Given the description of an element on the screen output the (x, y) to click on. 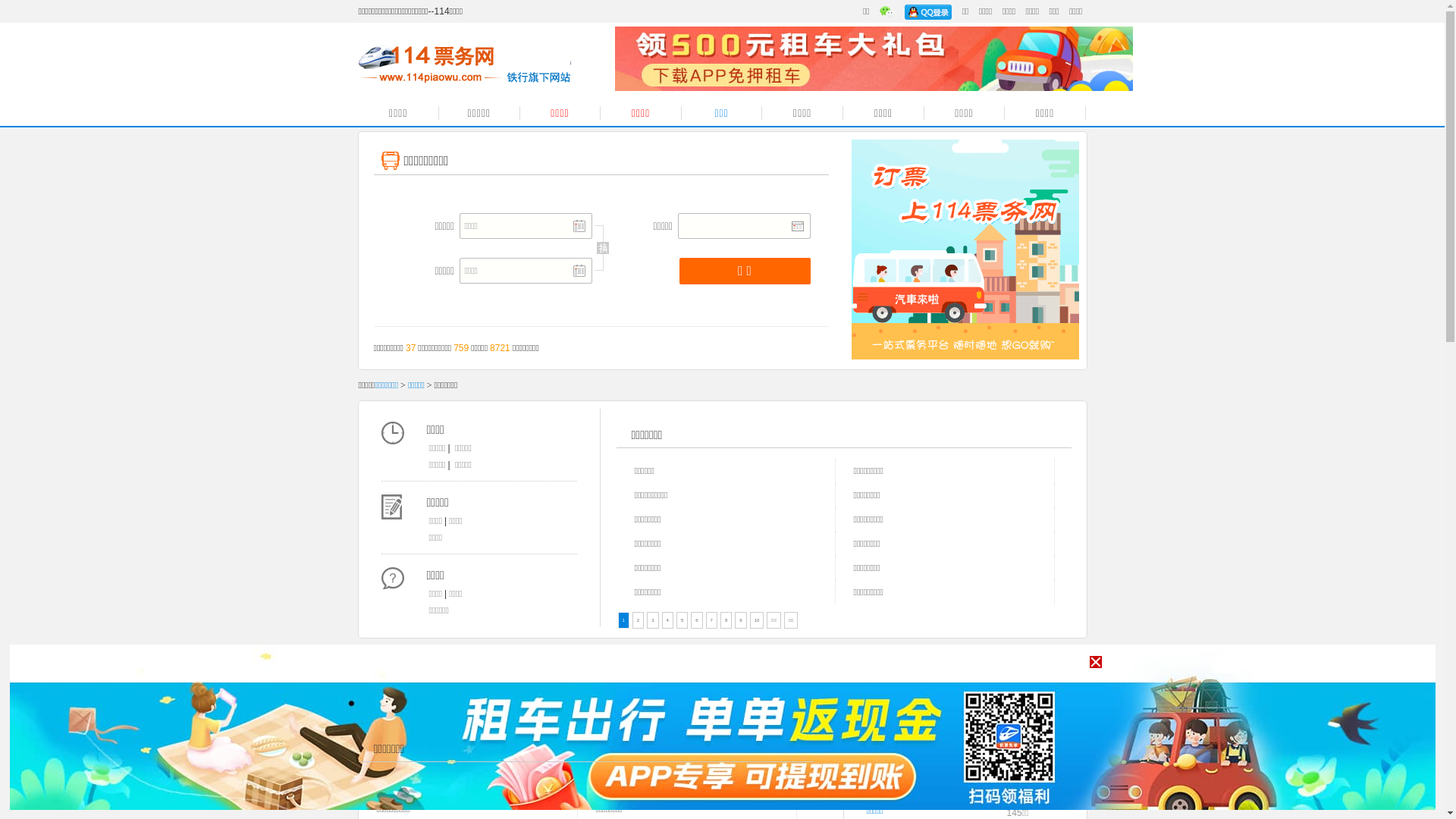
6 Element type: text (696, 619)
8 Element type: text (725, 619)
5 Element type: text (681, 619)
7 Element type: text (711, 619)
9 Element type: text (740, 619)
10 Element type: text (756, 619)
4 Element type: text (667, 619)
3 Element type: text (652, 619)
2 Element type: text (637, 619)
